Given the description of an element on the screen output the (x, y) to click on. 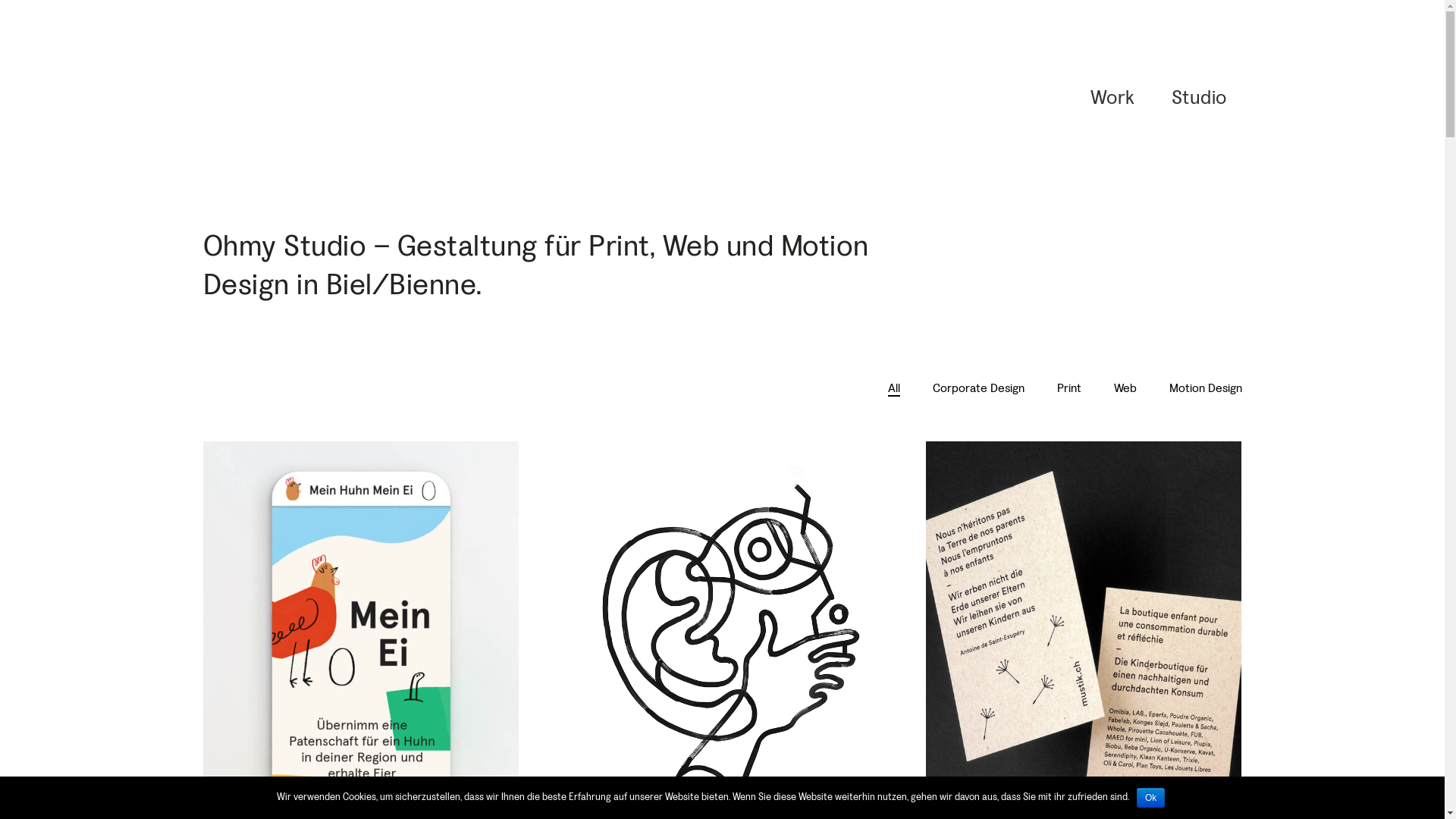
All Element type: text (893, 387)
Studio Element type: text (1198, 97)
Web Element type: text (1124, 387)
Corporate Design Element type: text (978, 387)
Work Element type: text (1112, 97)
Motion Design Element type: text (1205, 387)
Print Element type: text (1069, 387)
Ok Element type: text (1150, 797)
